Given the description of an element on the screen output the (x, y) to click on. 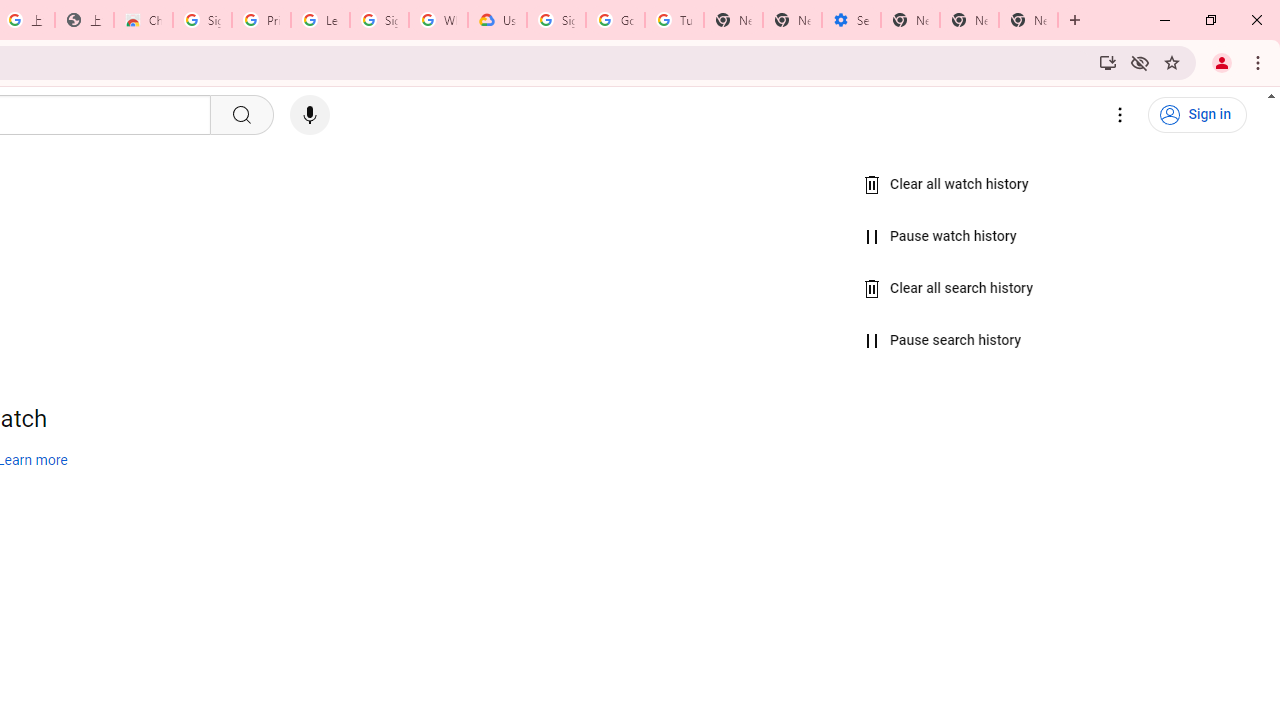
Settings - Addresses and more (850, 20)
